Given the description of an element on the screen output the (x, y) to click on. 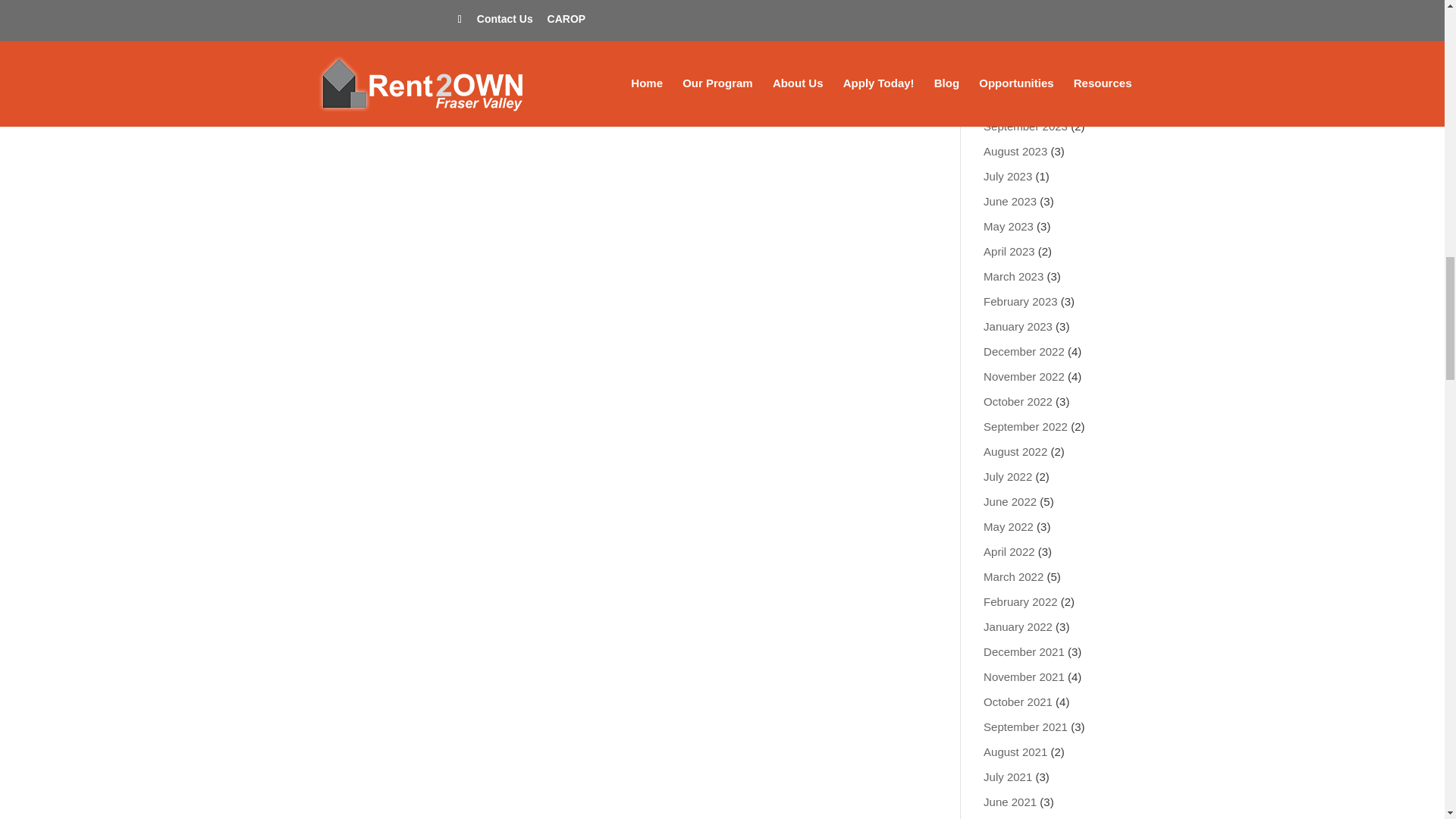
January 2024 (1018, 25)
July 2023 (1008, 175)
December 2023 (1024, 51)
September 2023 (1025, 125)
November 2023 (1024, 75)
October 2023 (1018, 101)
February 2024 (1021, 3)
August 2023 (1015, 151)
